Given the description of an element on the screen output the (x, y) to click on. 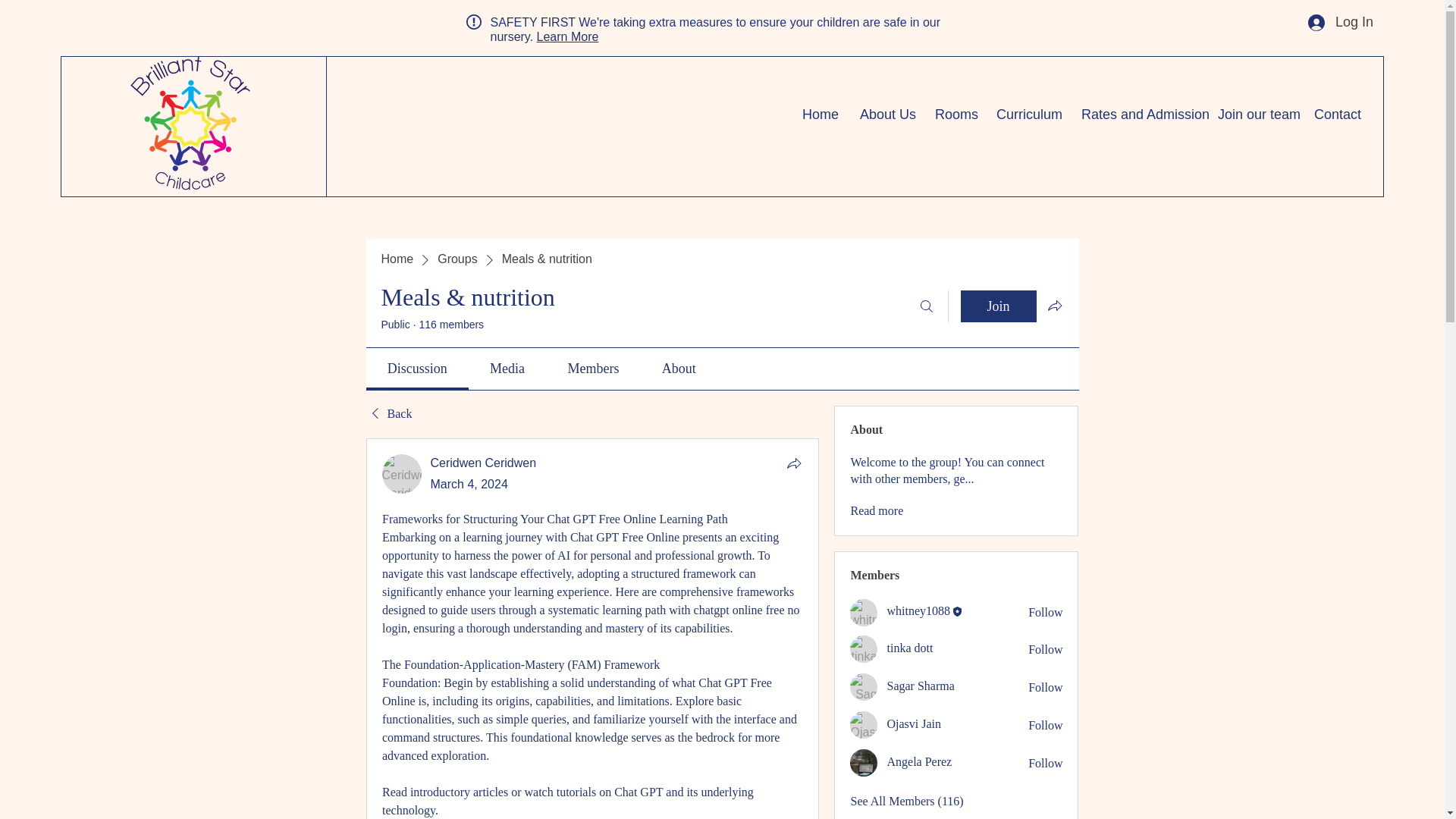
Sagar Sharma (919, 685)
chatgpt online free no login (592, 618)
Follow (1044, 649)
Ojasvi Jain (913, 723)
Home (396, 258)
Groups (457, 258)
About Us (885, 114)
Learn More (567, 36)
Join (997, 306)
whitney1088 (863, 612)
